Given the description of an element on the screen output the (x, y) to click on. 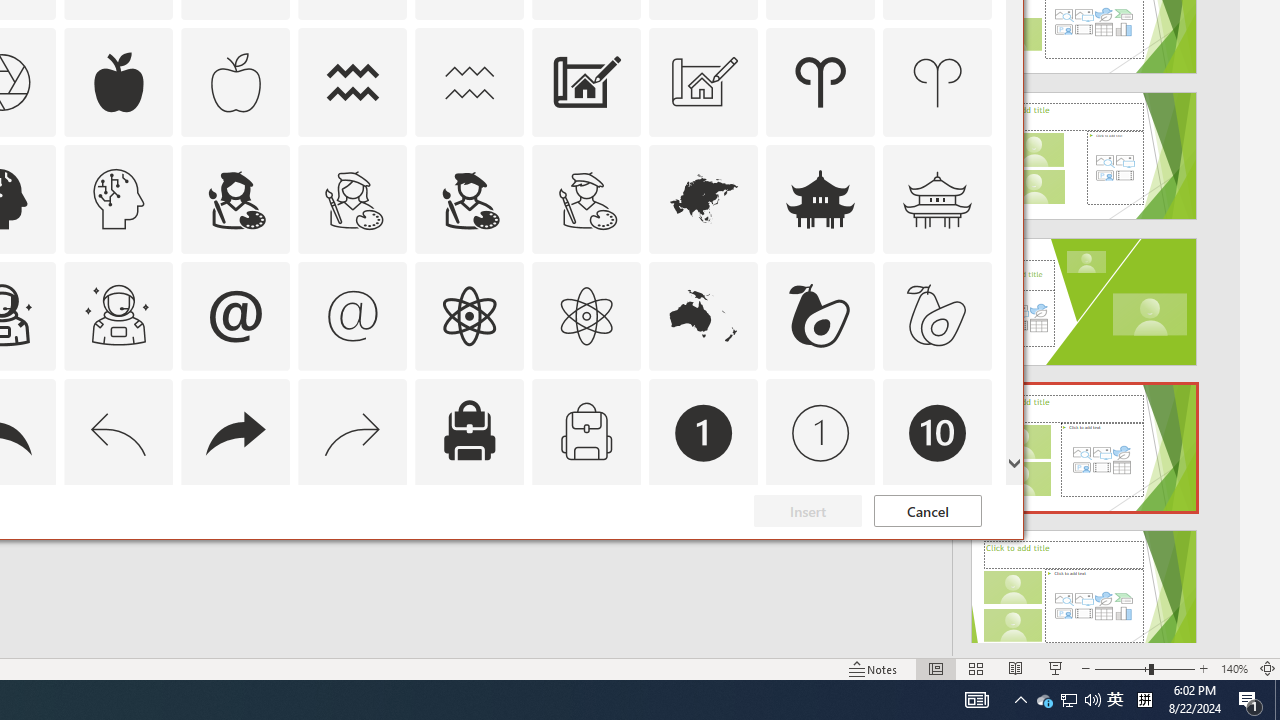
AutomationID: Icons_Badge6 (118, 550)
IME Mode Icon - IME is disabled (1115, 699)
Cancel (927, 511)
AutomationID: Icons_Architecture_M (703, 82)
AutomationID: Icons_Badge6_M (235, 550)
AutomationID: Icons_ArtistFemale_M (353, 198)
AutomationID: Icons_Aries_M (938, 82)
AutomationID: Icons_Badge9_M (938, 550)
AutomationID: Icons_Backpack_M (586, 432)
AutomationID: Icons_Backpack (469, 432)
